Given the description of an element on the screen output the (x, y) to click on. 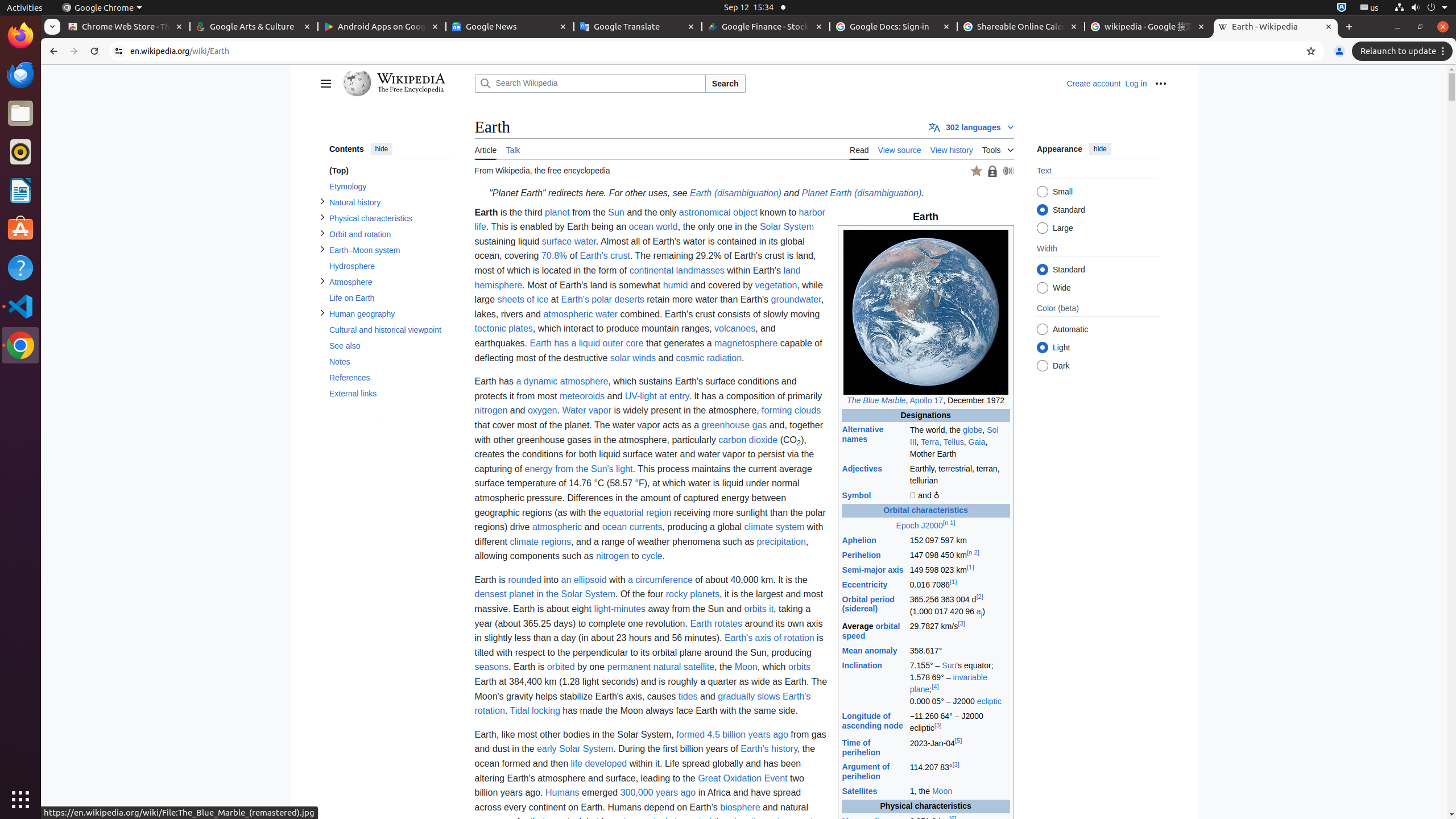
Dark Element type: radio-button (1042, 365)
orbits it Element type: link (758, 609)
:1.72/StatusNotifierItem Element type: menu (1341, 7)
globe Element type: link (972, 429)
energy from the Sun's light Element type: link (578, 468)
